Given the description of an element on the screen output the (x, y) to click on. 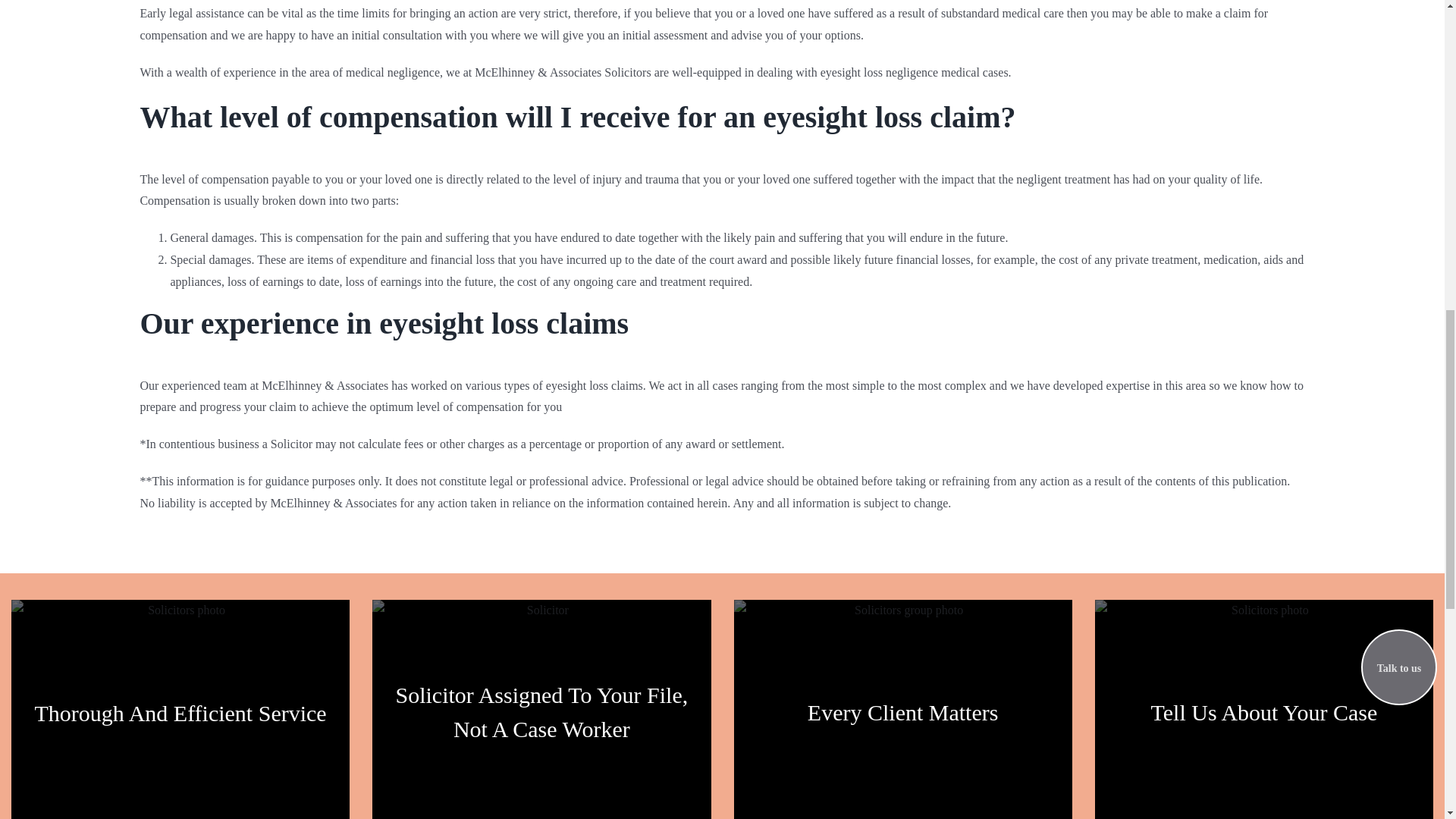
Tell Us About Your Case (1264, 712)
